Given the description of an element on the screen output the (x, y) to click on. 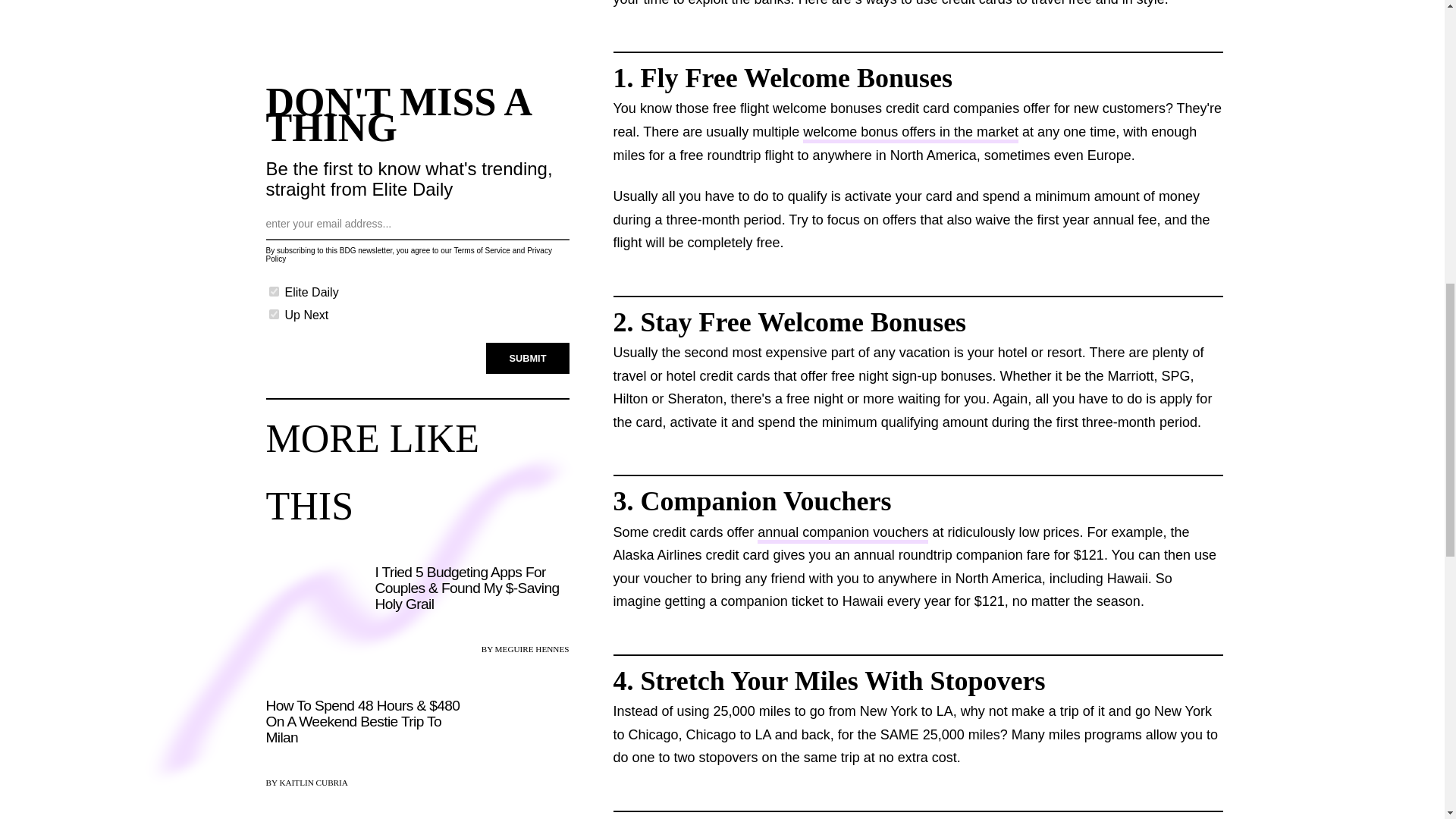
annual companion vouchers (842, 533)
Terms of Service (480, 250)
SUBMIT (527, 358)
welcome bonus offers in the market (910, 133)
Privacy Policy (407, 254)
